Given the description of an element on the screen output the (x, y) to click on. 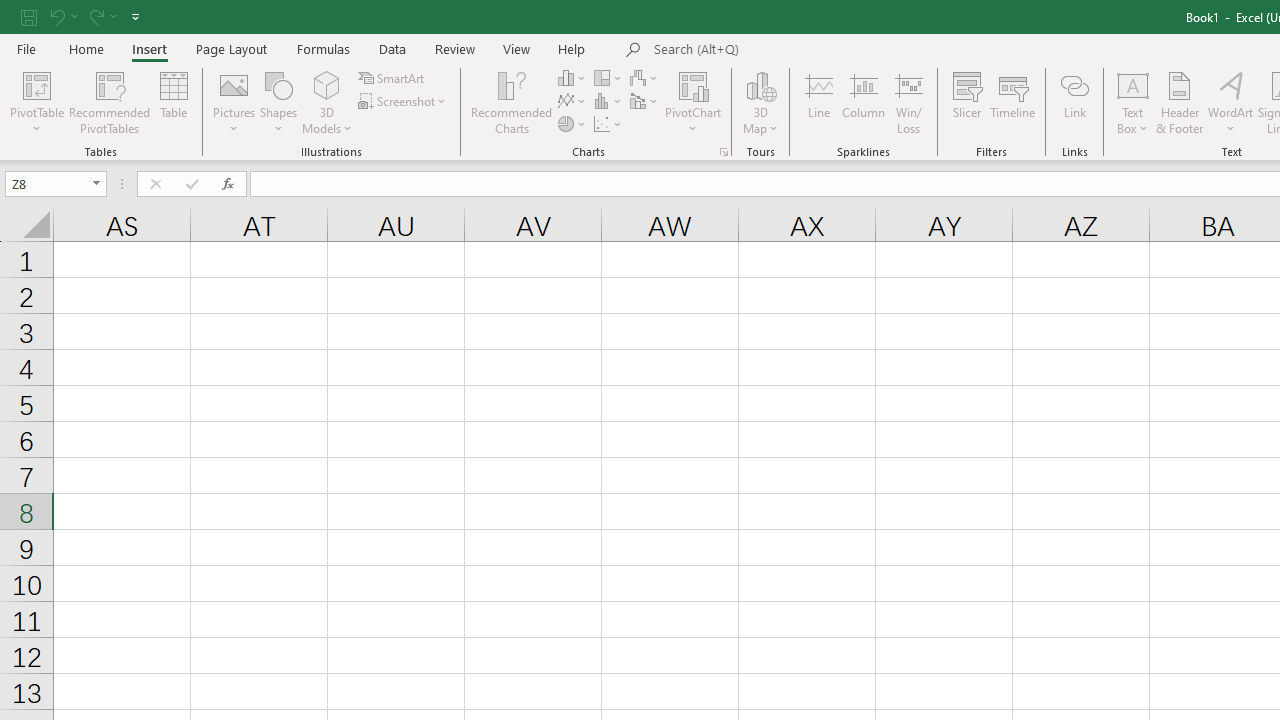
Line (818, 102)
Table (173, 102)
Insert Pie or Doughnut Chart (573, 124)
Formulas (323, 48)
3D Map (760, 102)
Text Box (1133, 102)
WordArt (1230, 102)
Win/Loss (909, 102)
Data (392, 48)
Insert Scatter (X, Y) or Bubble Chart (609, 124)
Recommended Charts (723, 151)
SmartArt... (392, 78)
Link (1074, 102)
